Given the description of an element on the screen output the (x, y) to click on. 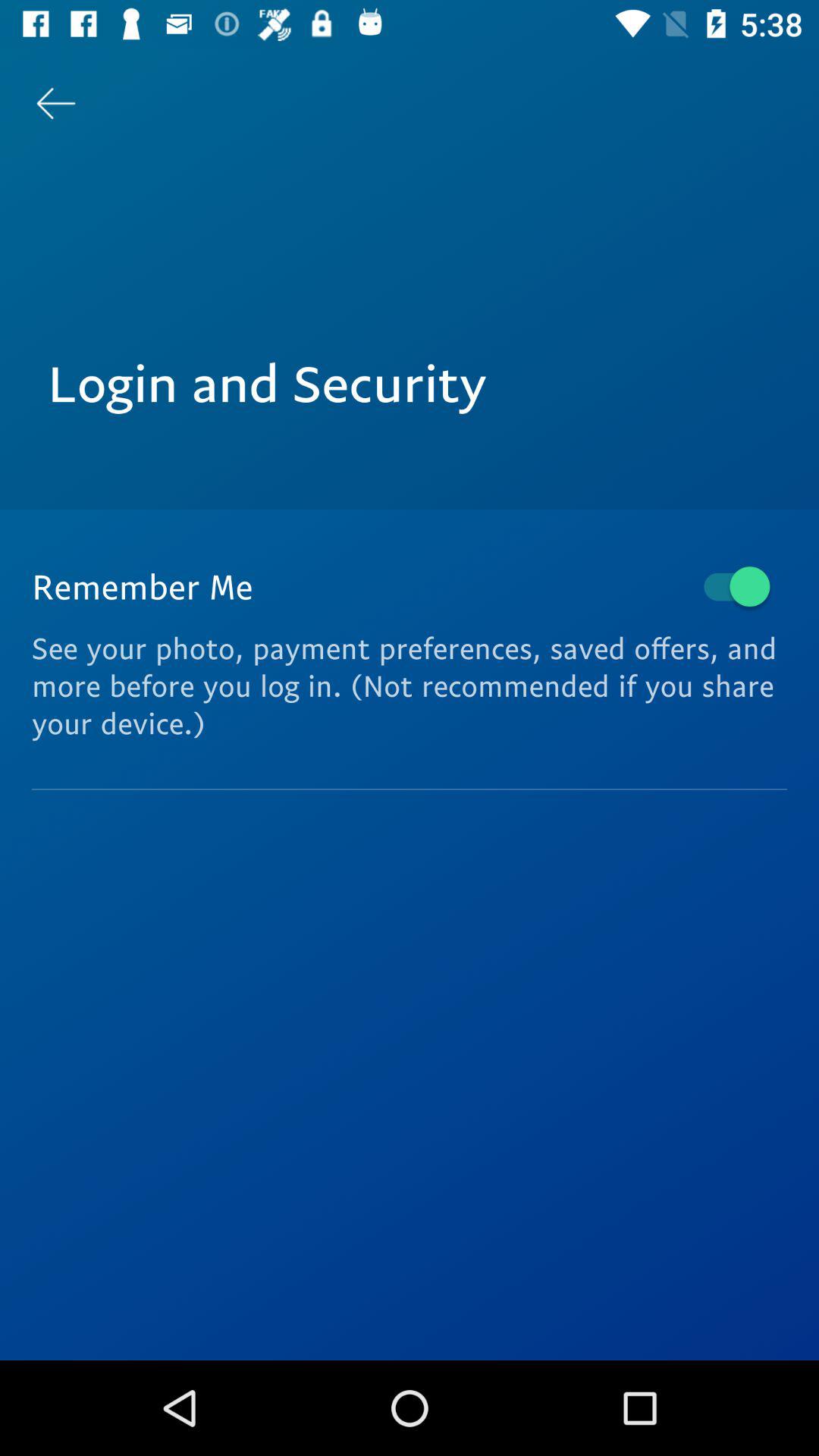
tap item above the login and security (55, 103)
